Given the description of an element on the screen output the (x, y) to click on. 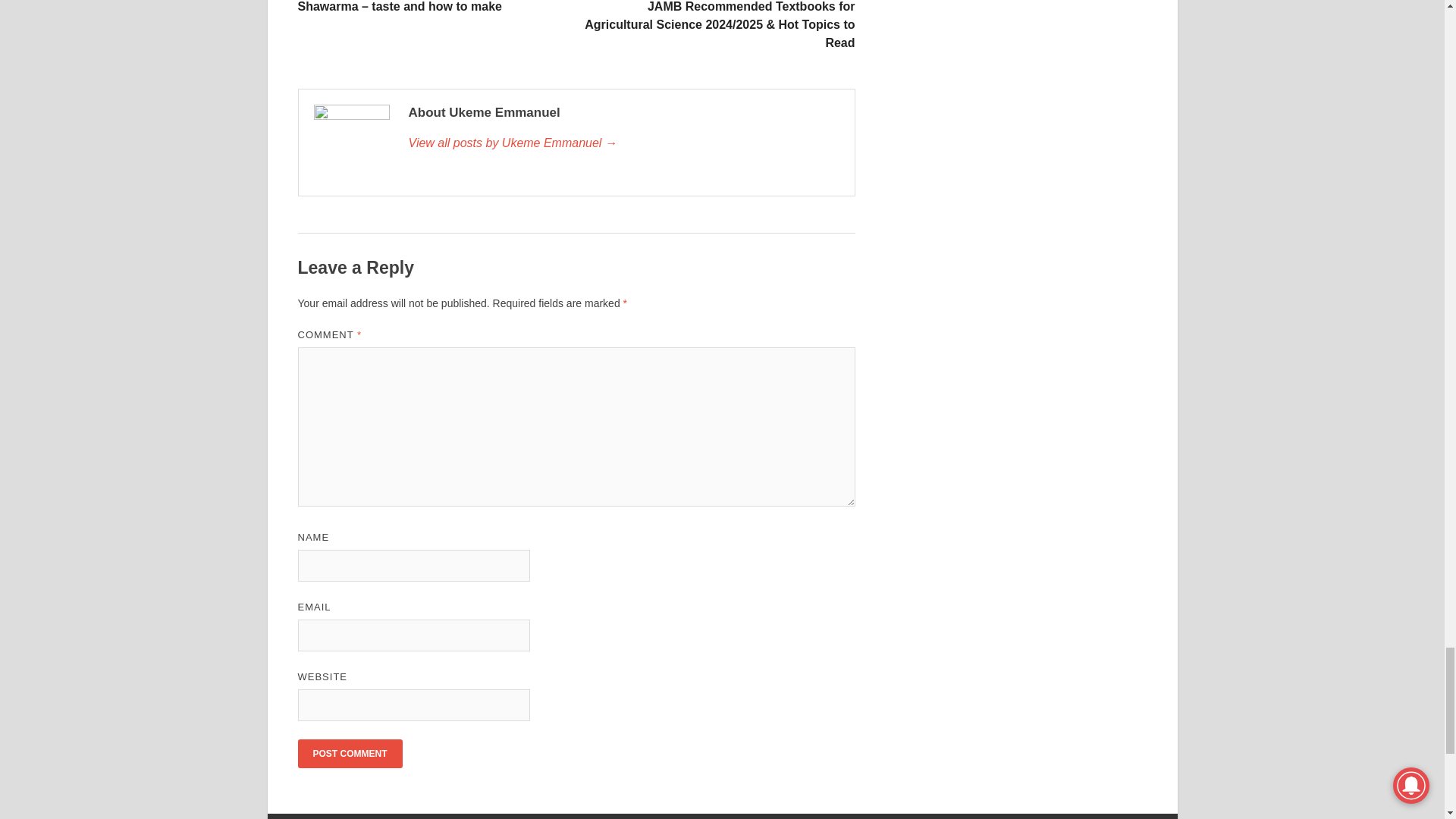
Post Comment (349, 753)
